Given the description of an element on the screen output the (x, y) to click on. 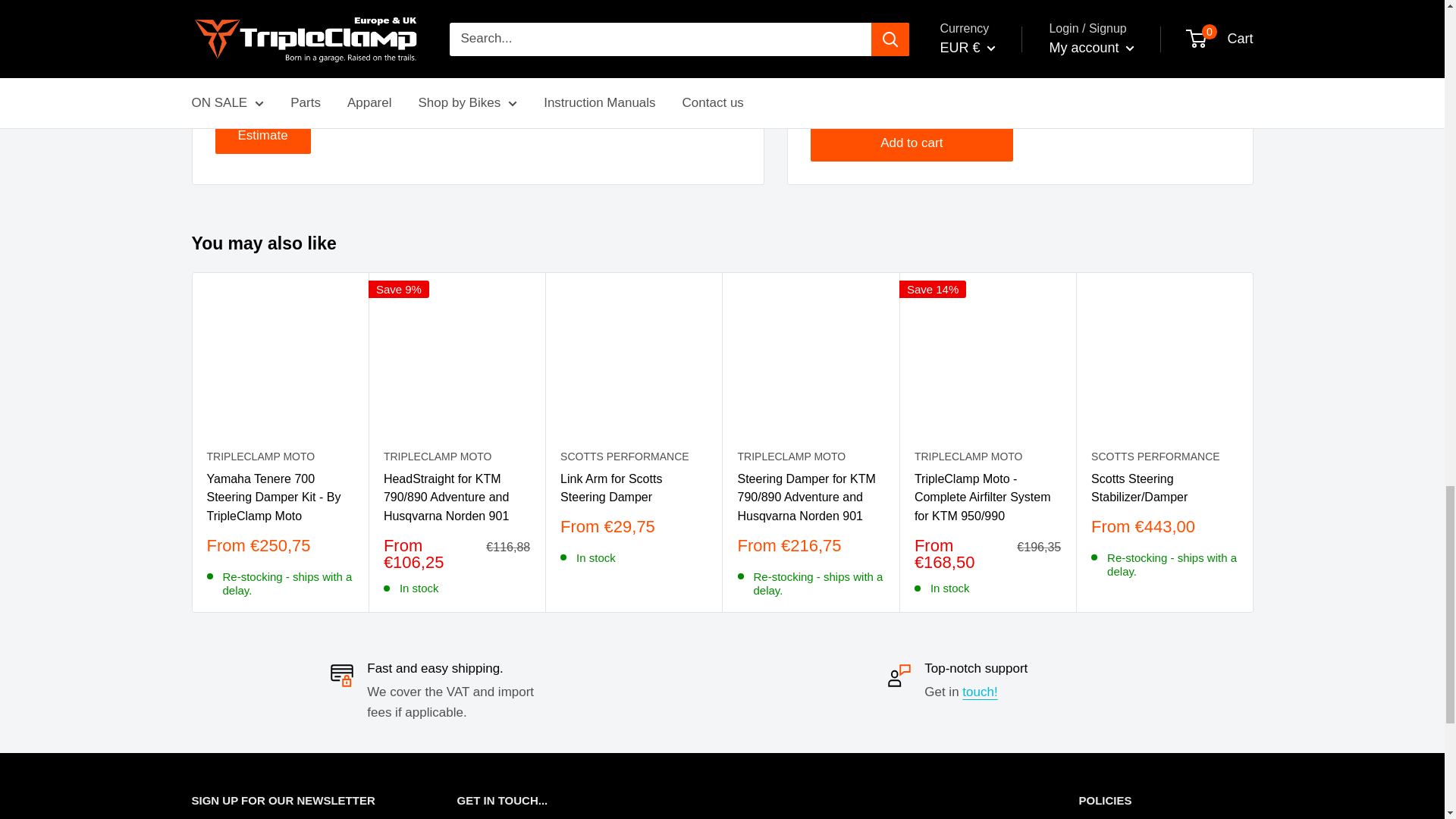
Contact (979, 691)
